Given the description of an element on the screen output the (x, y) to click on. 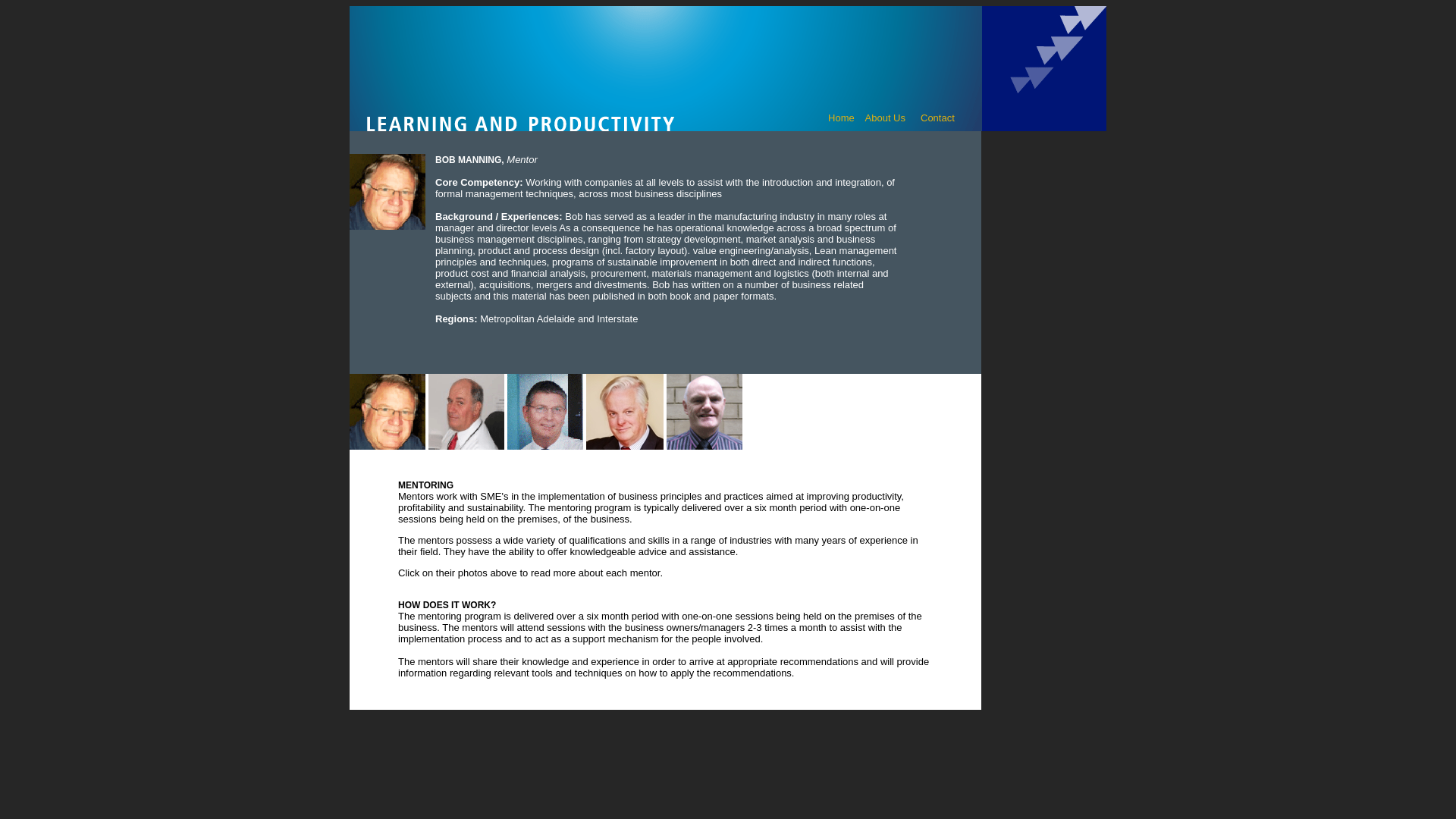
Brenton Leitch Element type: hover (545, 411)
Home Element type: text (841, 117)
Bob Manning Element type: hover (387, 191)
Peter Cesco Element type: hover (466, 411)
Joe Williams Element type: hover (704, 411)
Contact Element type: text (937, 117)
About Us Element type: text (885, 117)
Bob Manning Element type: hover (387, 411)
Christopher Miller Element type: hover (624, 411)
